Given the description of an element on the screen output the (x, y) to click on. 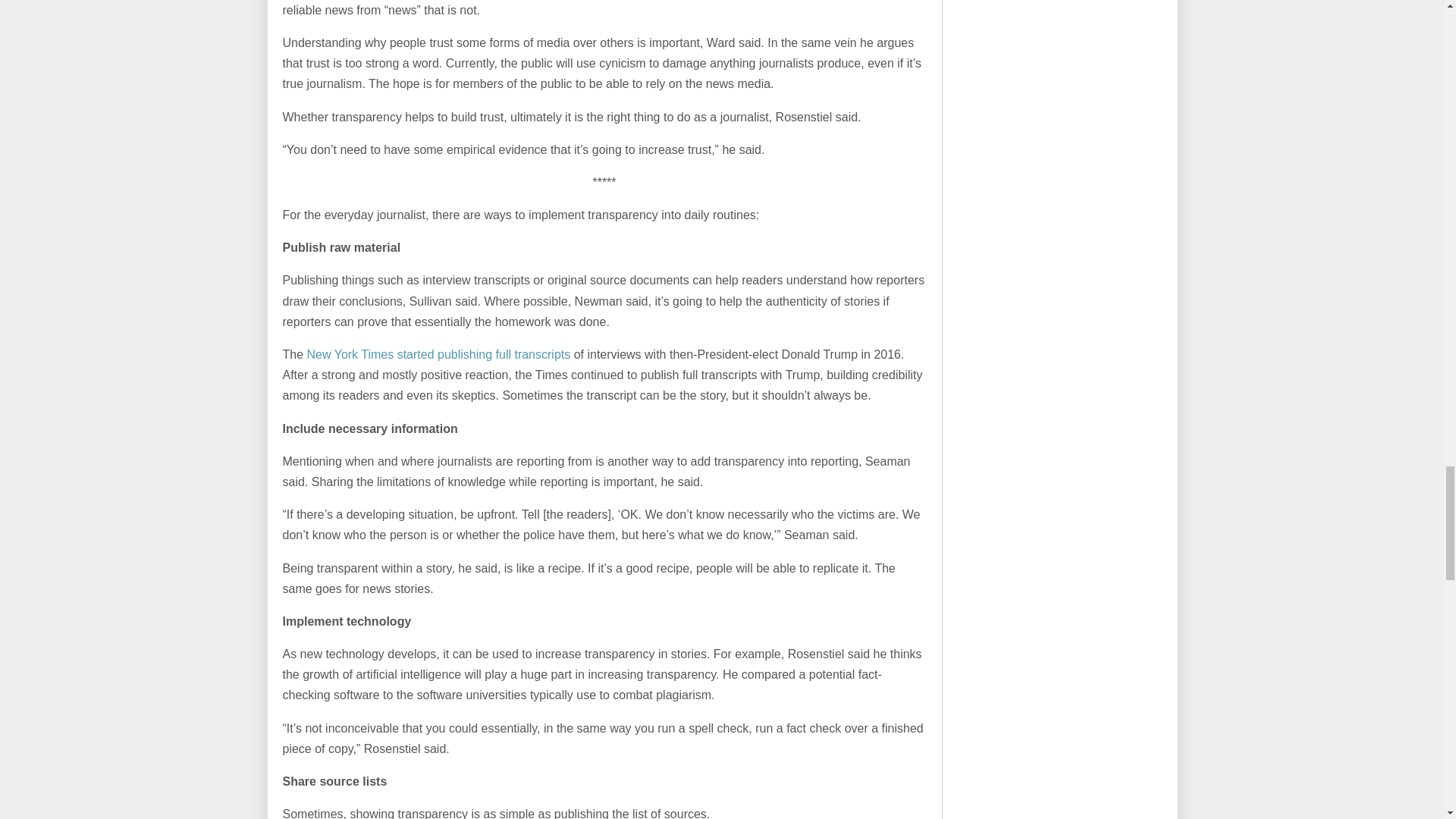
New York Times started publishing full transcripts (438, 354)
